Given the description of an element on the screen output the (x, y) to click on. 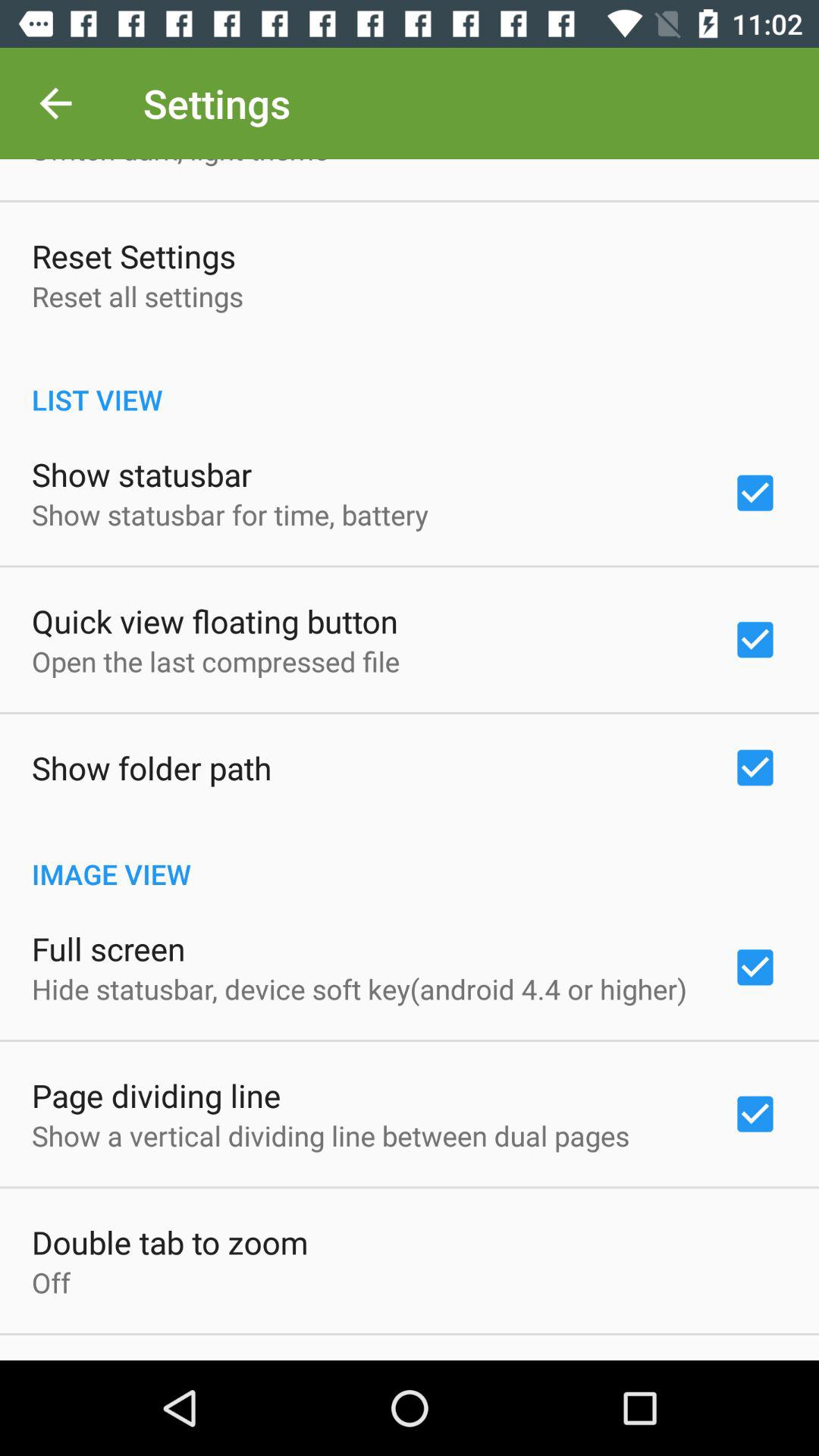
jump until show folder path item (151, 767)
